Given the description of an element on the screen output the (x, y) to click on. 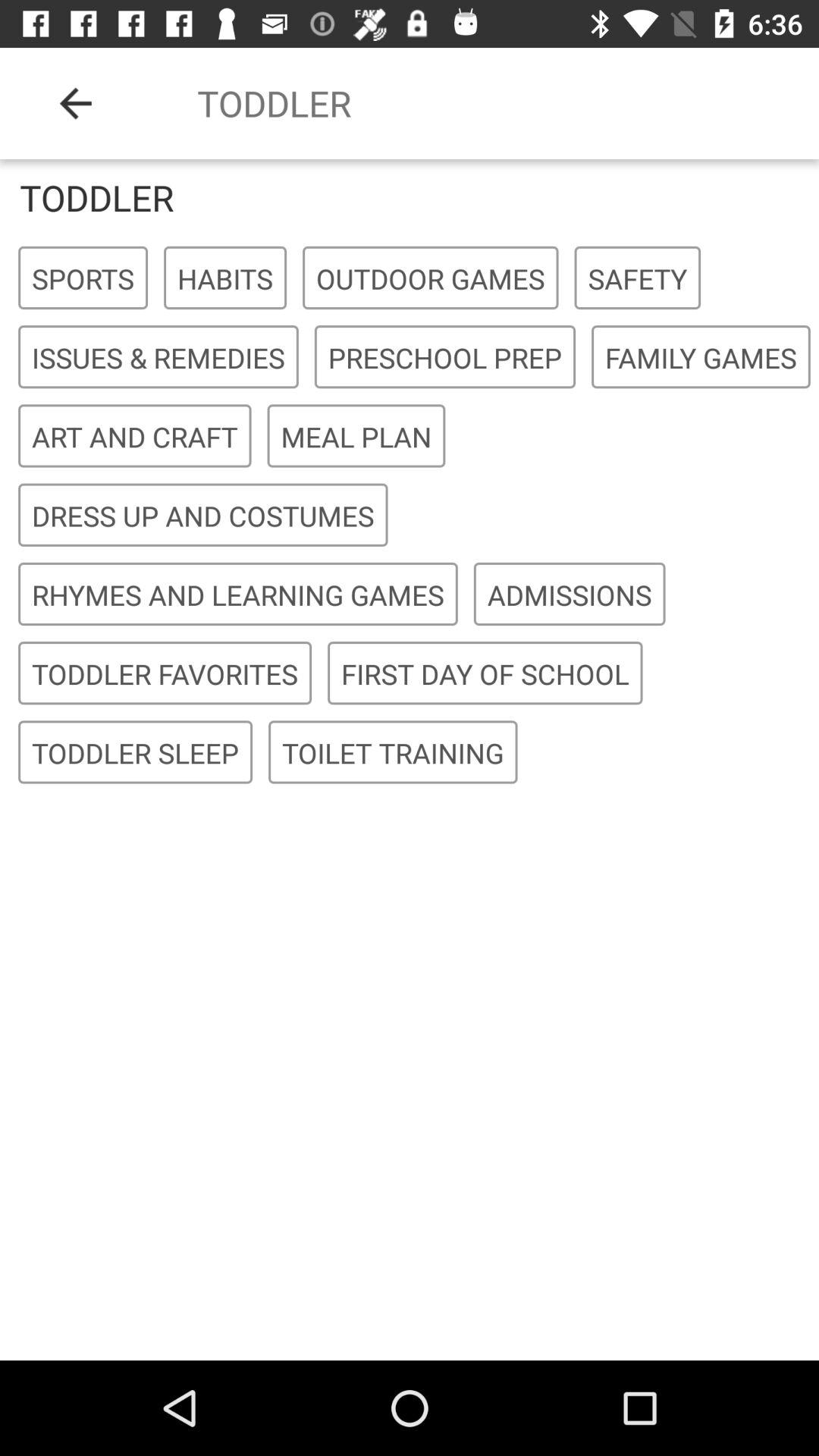
click item below the toddler (430, 278)
